Given the description of an element on the screen output the (x, y) to click on. 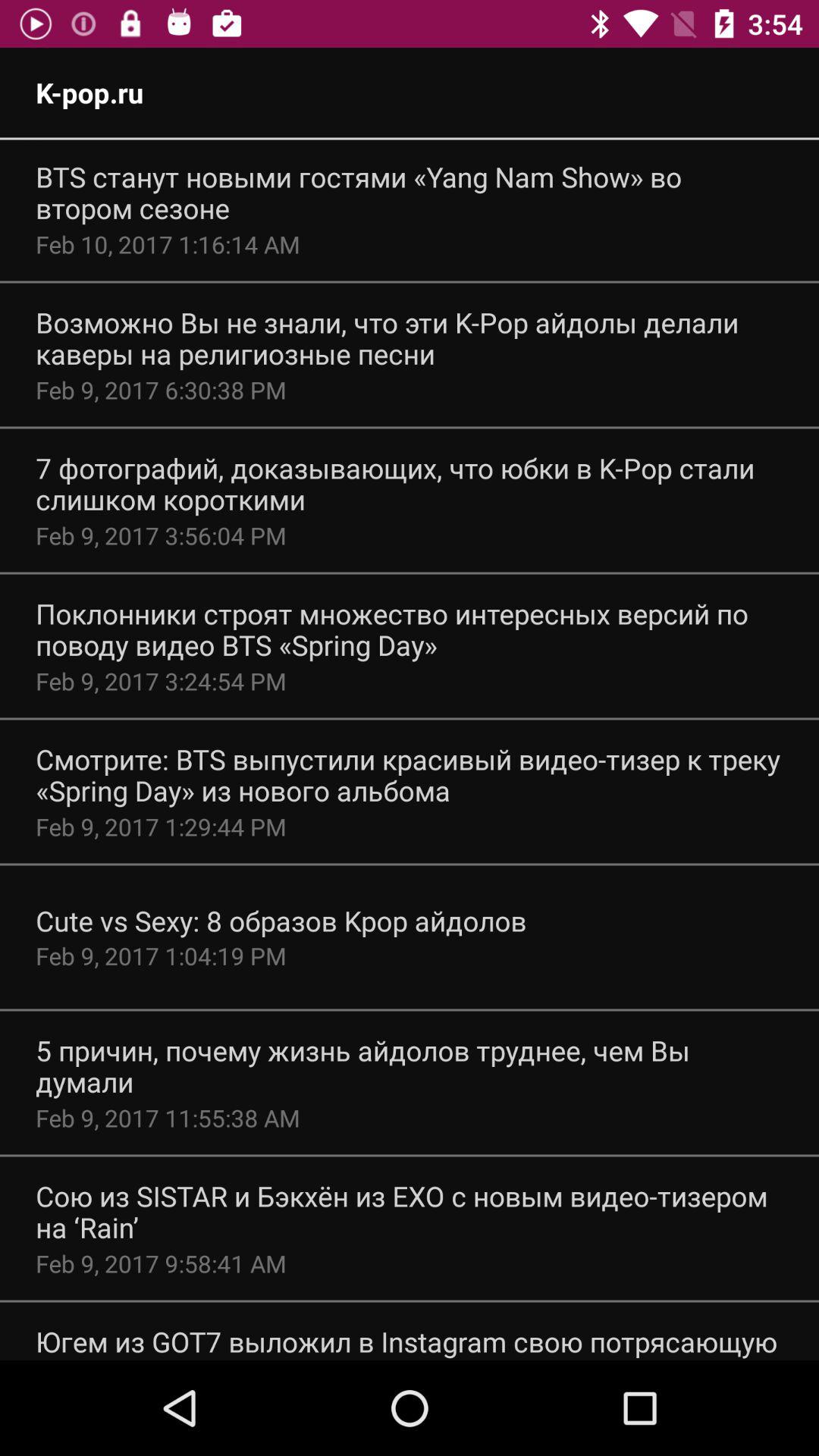
tap icon above the feb 9 2017 item (409, 484)
